Given the description of an element on the screen output the (x, y) to click on. 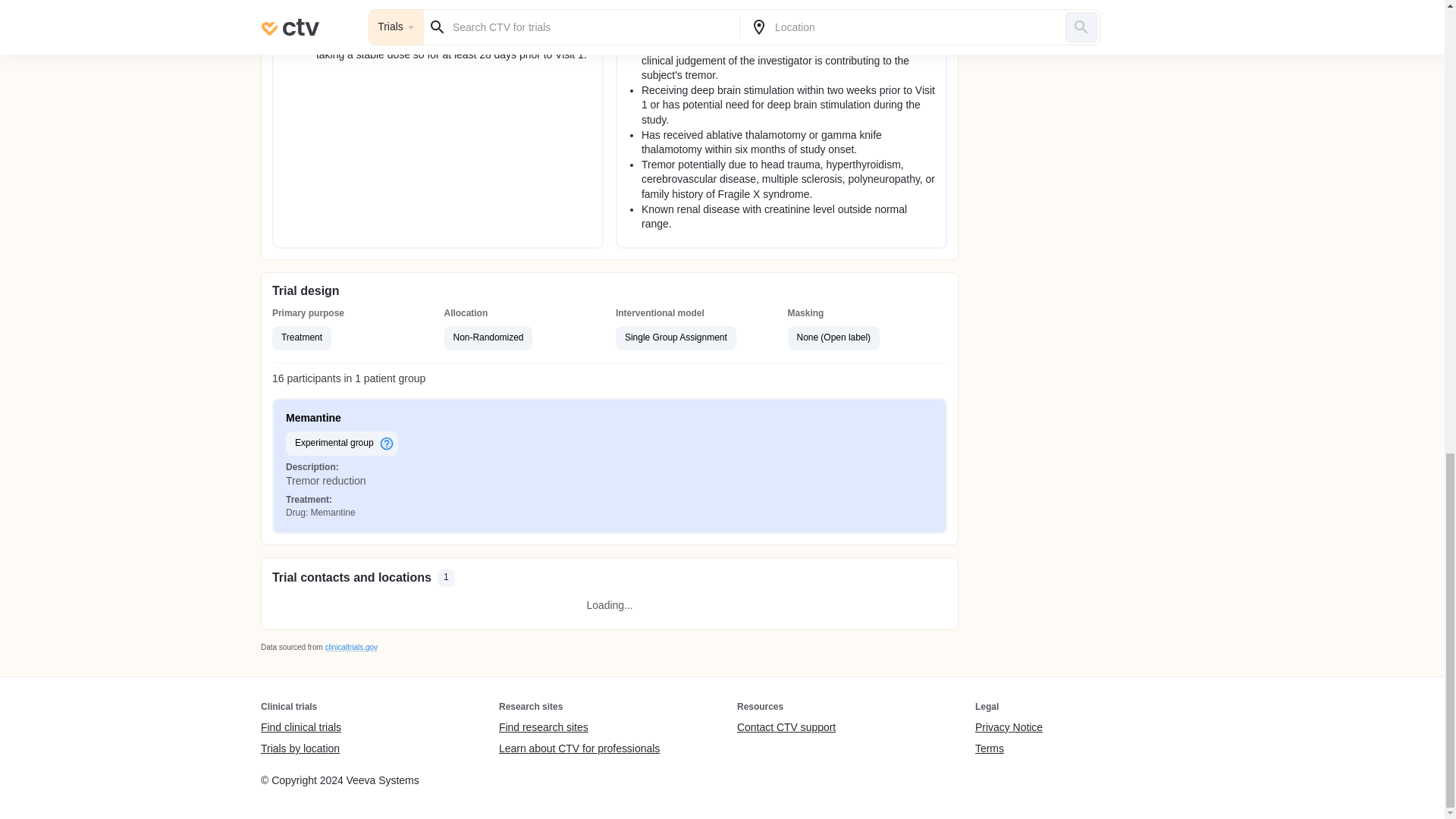
Contact CTV support (785, 727)
Terms (1008, 748)
Privacy Notice (1008, 727)
Find clinical trials (300, 727)
Learn about CTV for professionals (579, 748)
Trials by location (300, 748)
clinicaltrials.gov (350, 646)
Find research sites (579, 727)
